Given the description of an element on the screen output the (x, y) to click on. 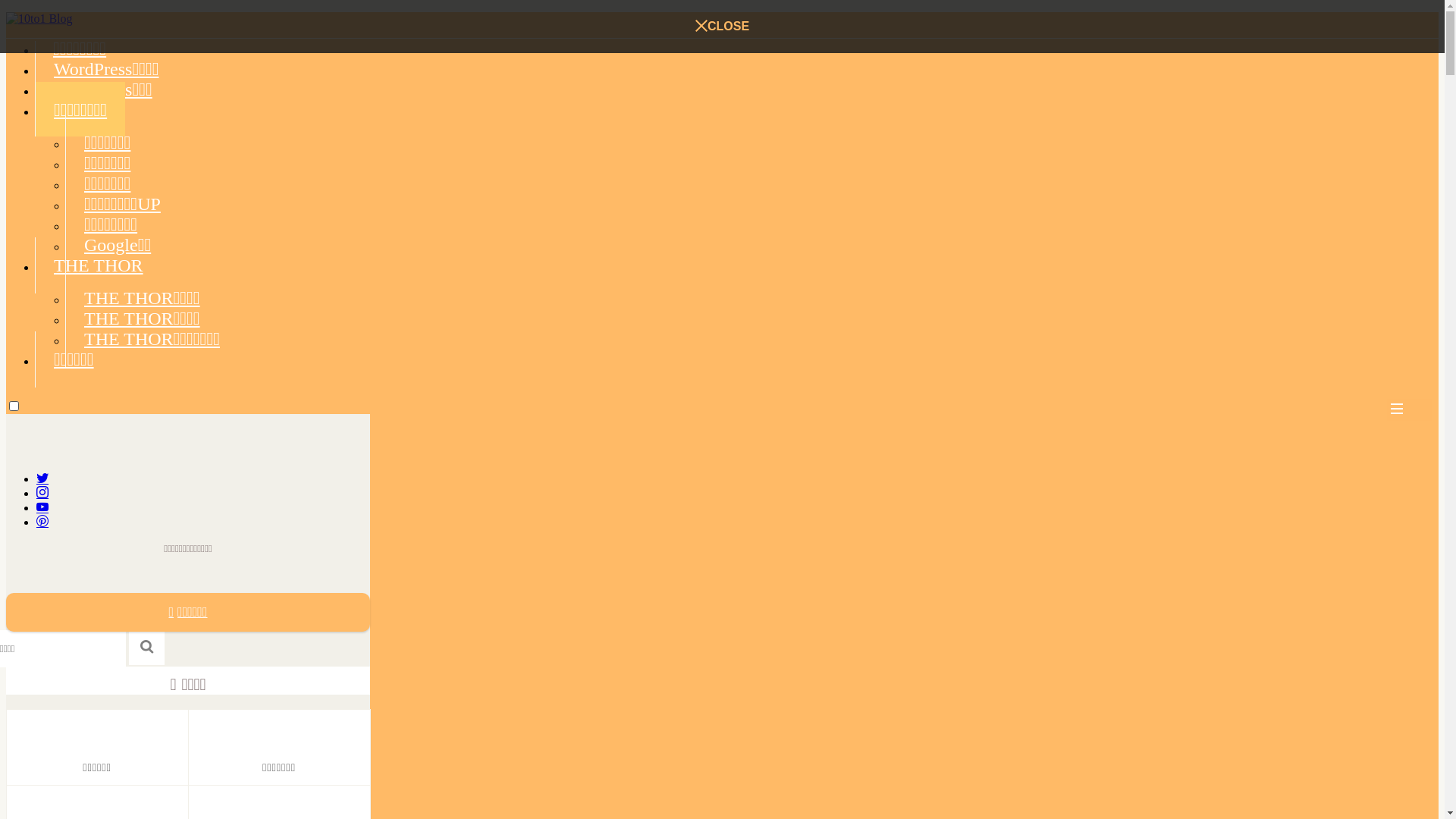
search Element type: text (146, 647)
THE THOR Element type: text (97, 265)
